Given the description of an element on the screen output the (x, y) to click on. 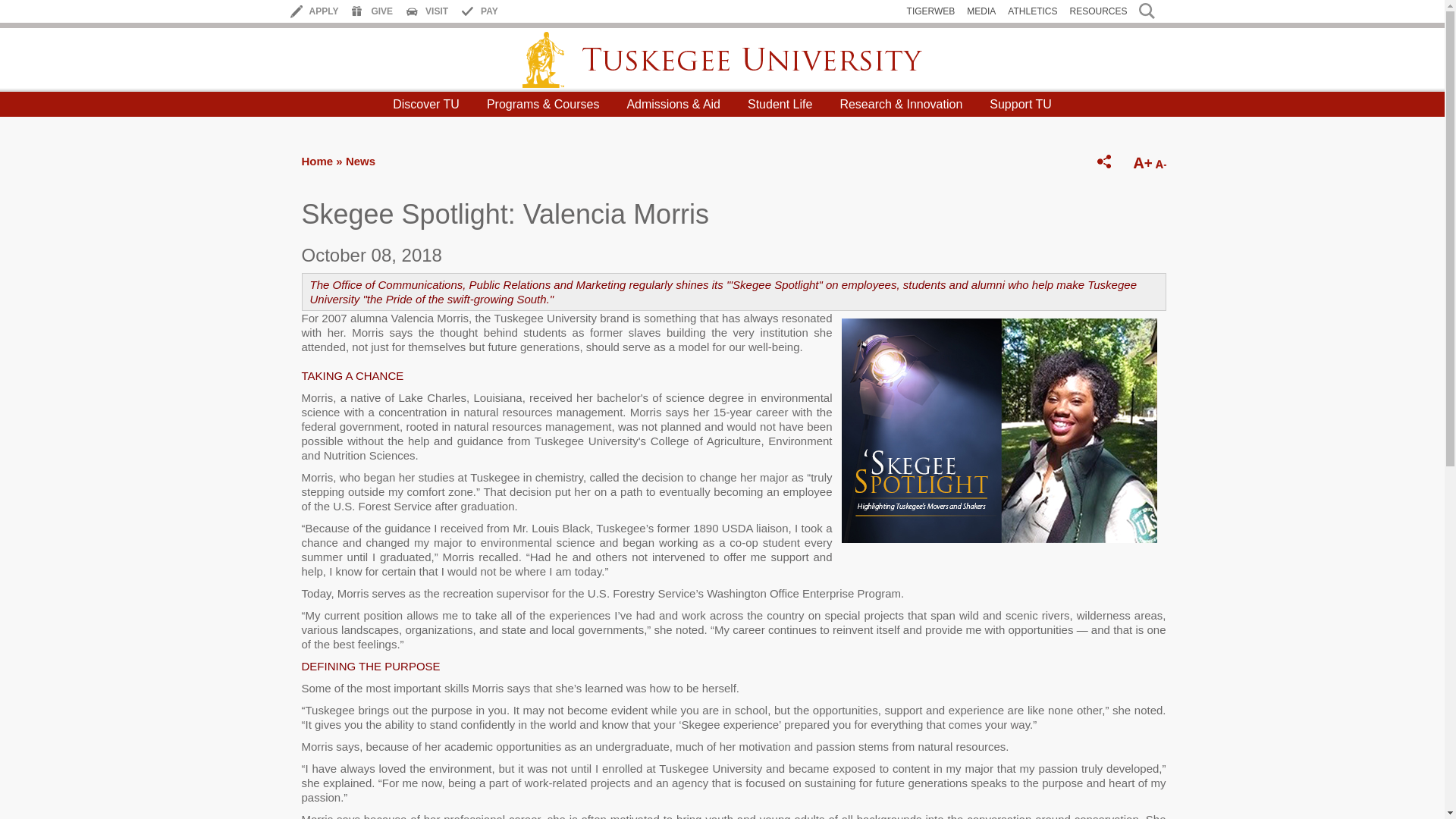
APPLY (323, 10)
VISIT (436, 10)
Tuskegee University (721, 59)
ATHLETICS (1032, 10)
PAY (488, 10)
MEDIA (980, 10)
GIVE (382, 10)
RESOURCES (1097, 10)
TIGERWEB (931, 10)
